Given the description of an element on the screen output the (x, y) to click on. 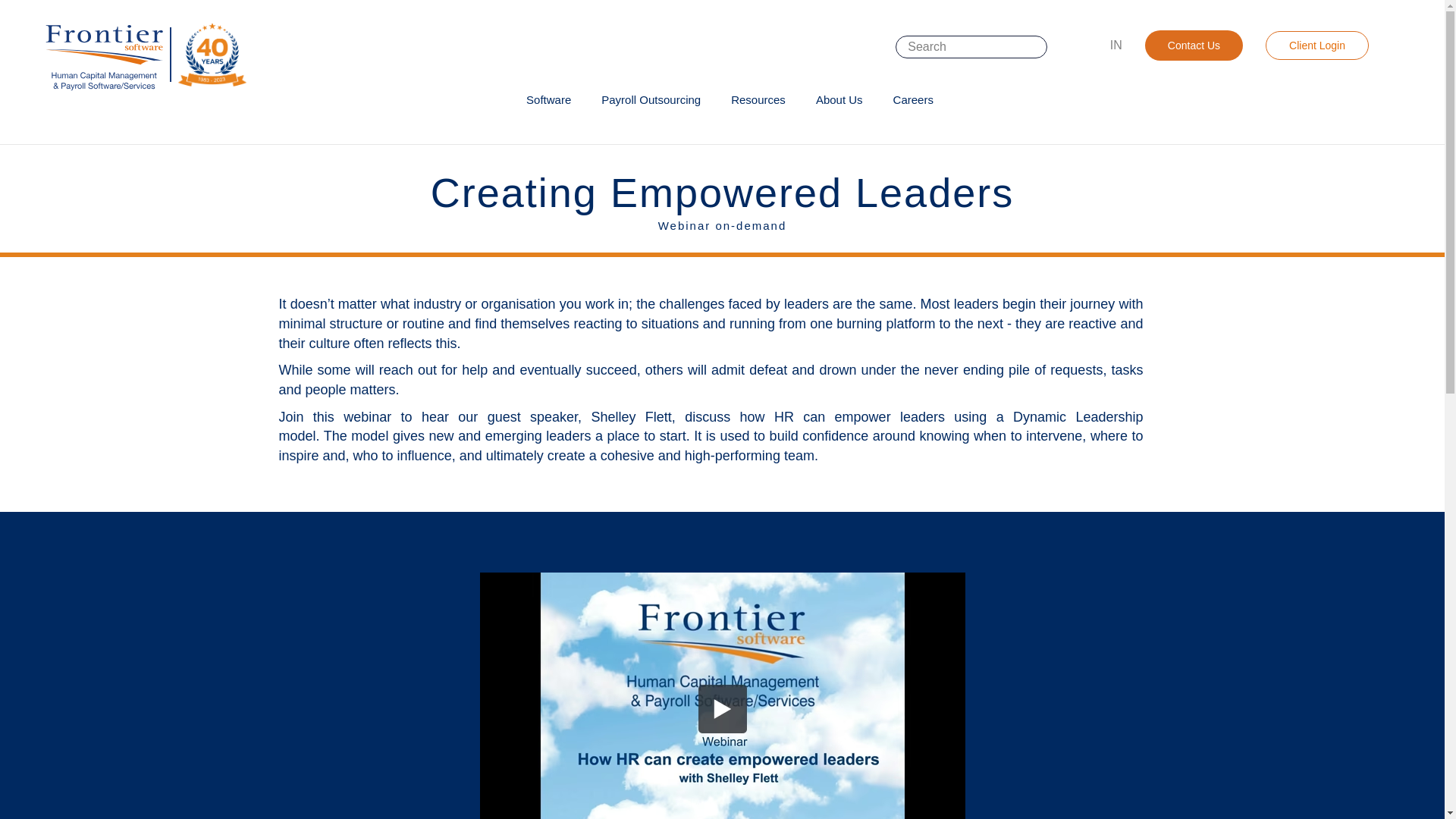
Resources (758, 99)
Contact Us (1193, 45)
Client Login (1316, 45)
Search (1067, 47)
Home (141, 54)
Software (547, 99)
IN (1115, 44)
Payroll Outsourcing (650, 99)
